Given the description of an element on the screen output the (x, y) to click on. 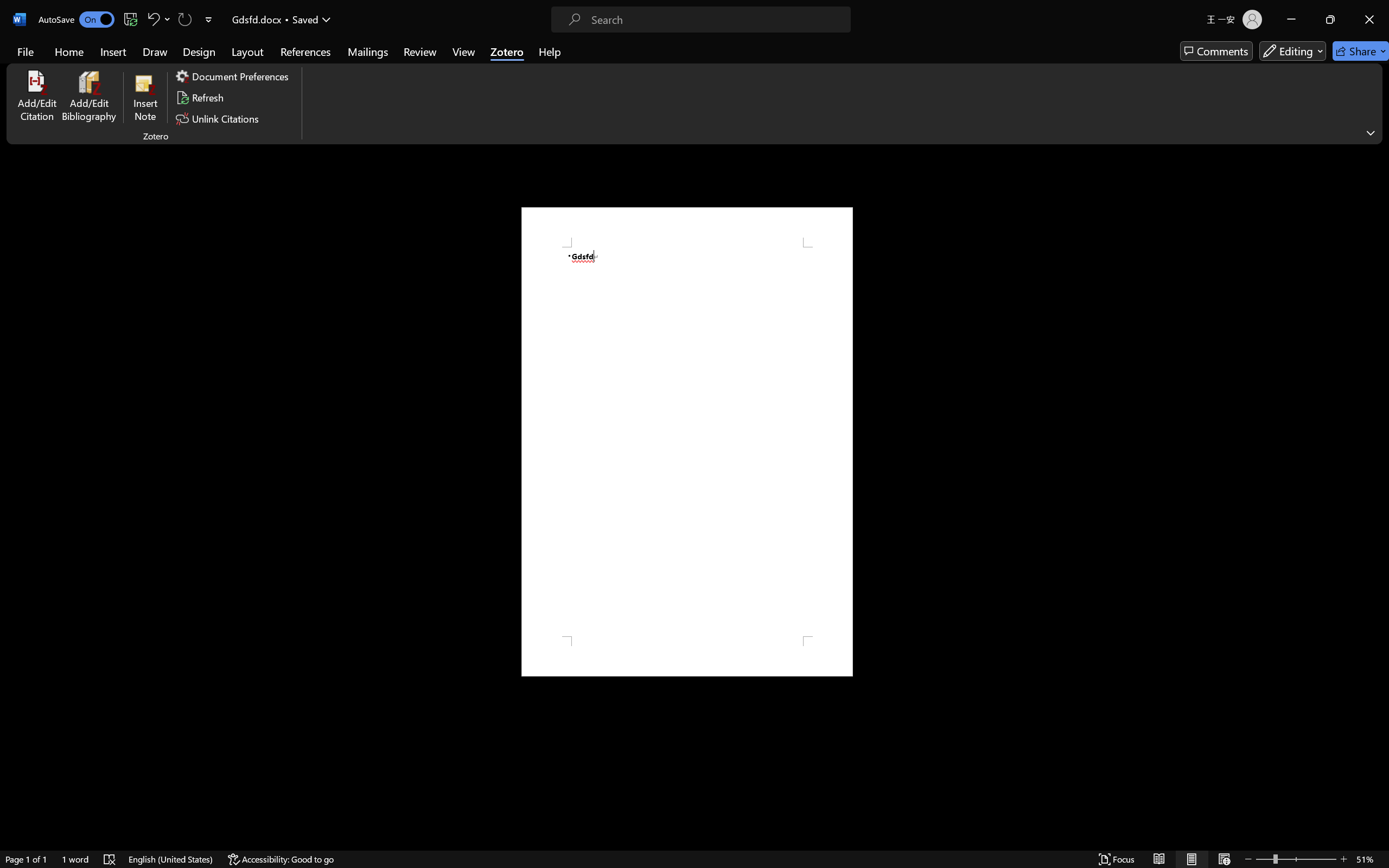
Page 1 content (686, 441)
